Given the description of an element on the screen output the (x, y) to click on. 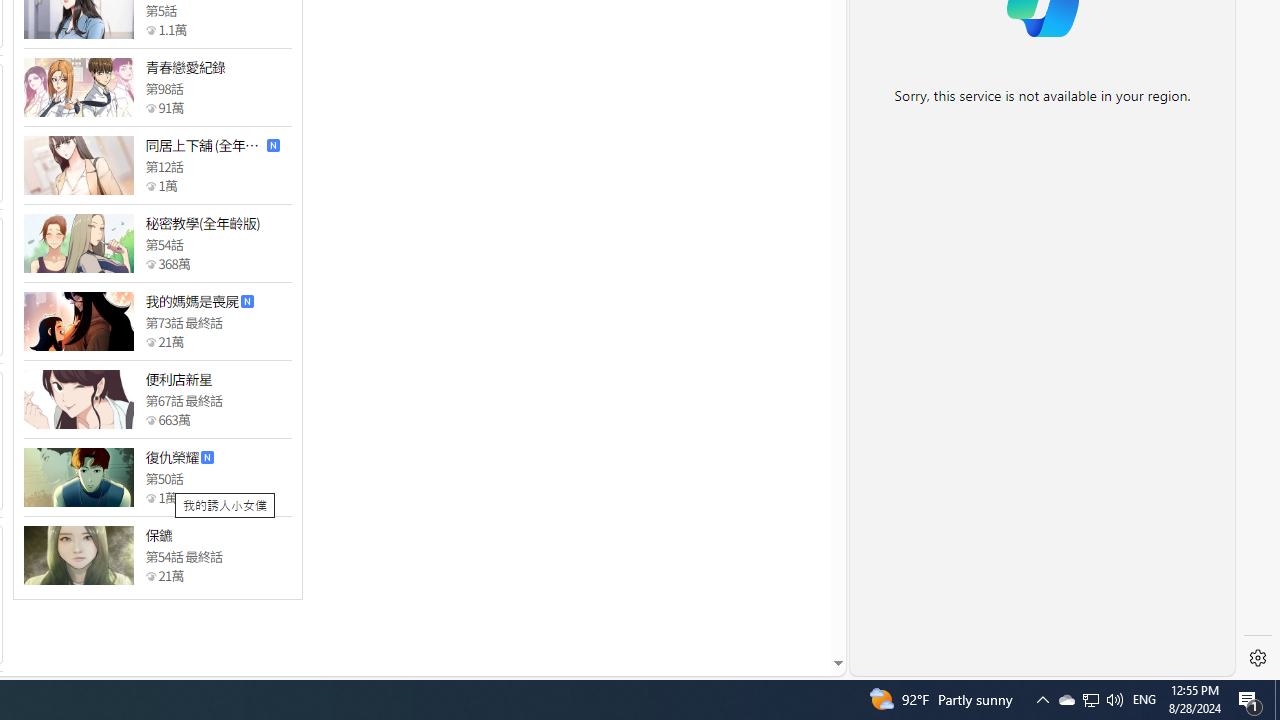
Class: thumb_img (78, 555)
